Given the description of an element on the screen output the (x, y) to click on. 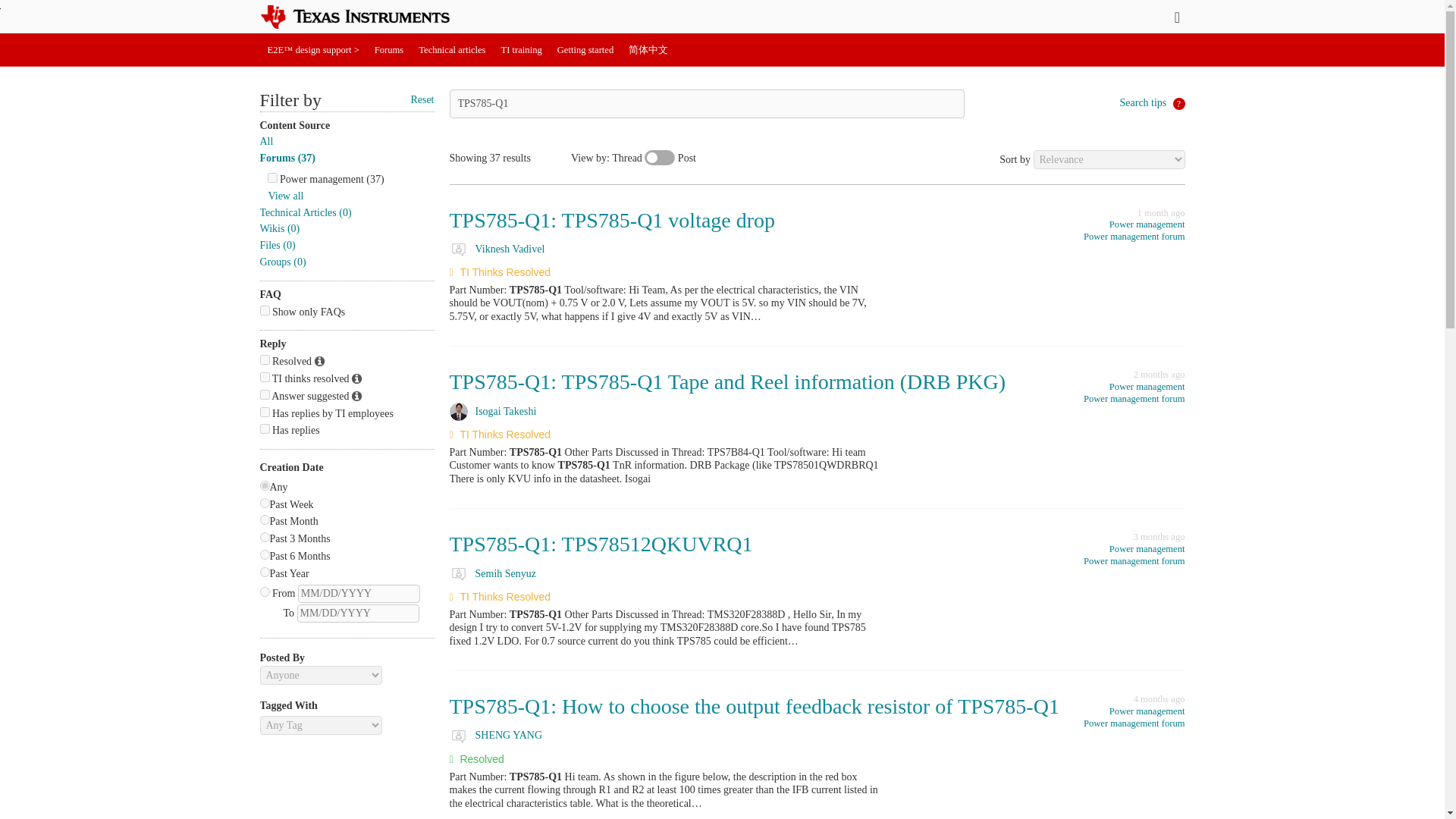
User (1177, 17)
TPS785-Q1: TPS78512QKUVRQ1 (600, 544)
Join or sign in (1177, 17)
TI training (521, 49)
TPS785-Q1 (705, 103)
resolved (264, 359)
TPS785-Q1 (705, 103)
Forums (389, 49)
tithinksresolved (264, 377)
faq (264, 310)
